Given the description of an element on the screen output the (x, y) to click on. 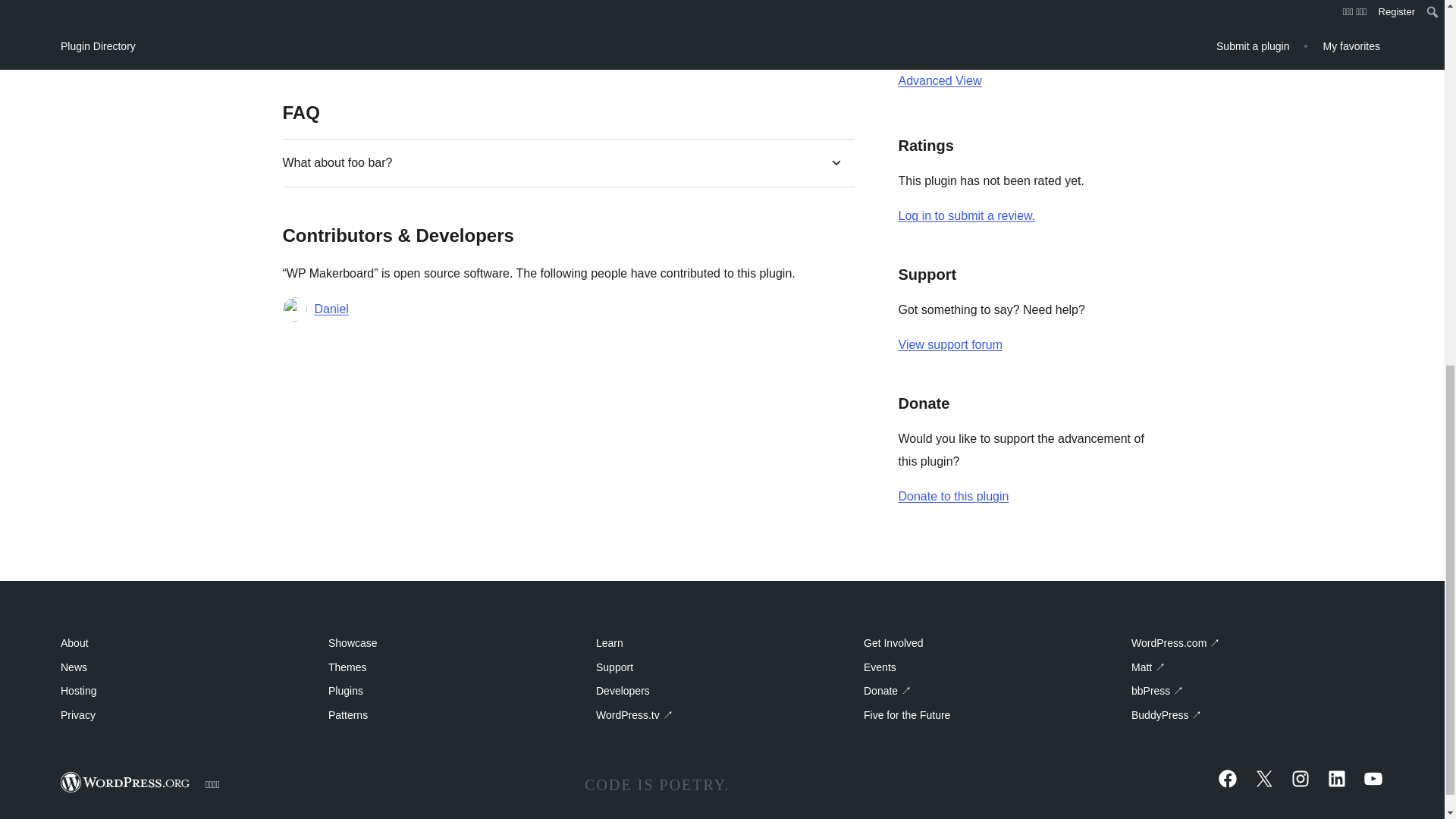
Daniel (330, 309)
WordPress.org (125, 782)
Log in to WordPress.org (966, 215)
canvas (1099, 9)
